Given the description of an element on the screen output the (x, y) to click on. 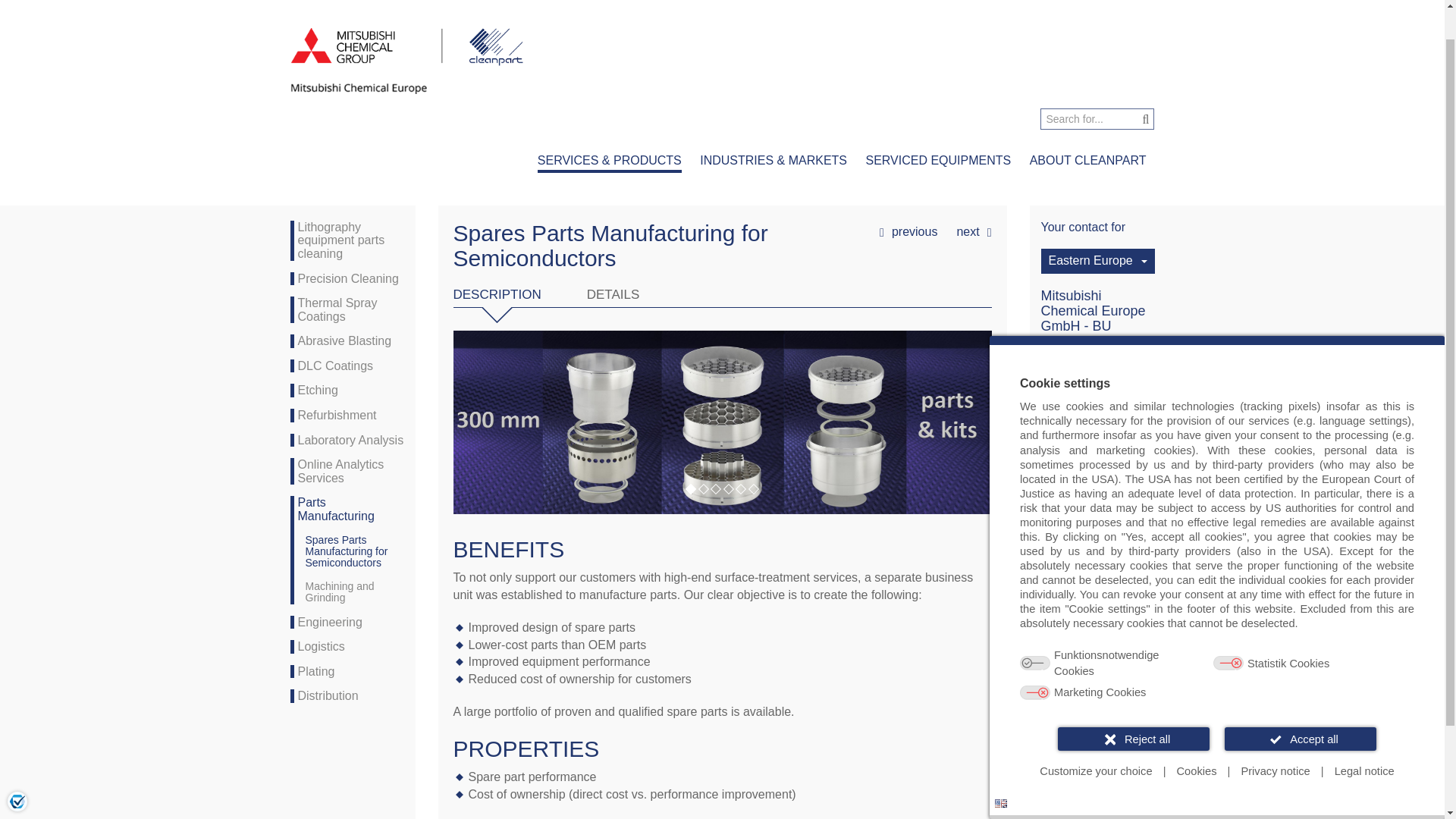
Cookies (1196, 737)
Reject all (1133, 704)
SERVICED EQUIPMENTS (937, 161)
Language: en (1000, 769)
Privacy settings (17, 767)
Accept all (1299, 704)
Legal notice (1364, 737)
Privacy notice (1275, 737)
Language: en (1000, 768)
Purpose (1216, 640)
ABOUT CLEANPART (1088, 161)
Customize your choice (1095, 737)
